Given the description of an element on the screen output the (x, y) to click on. 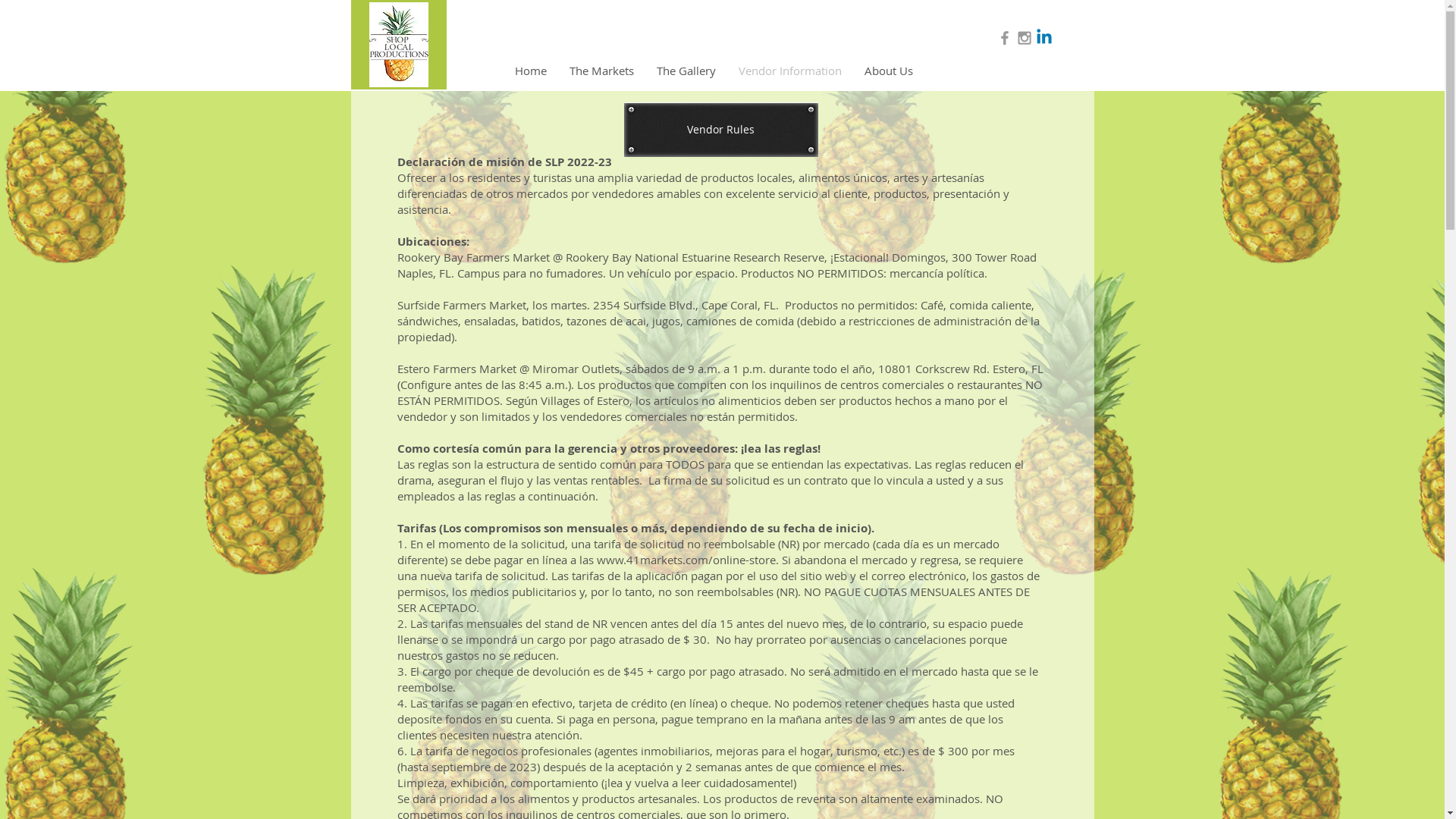
The Gallery Element type: text (685, 70)
Home Element type: text (530, 70)
www.41markets.com/online-store. Element type: text (687, 559)
Vendor Information Element type: text (789, 70)
About Us Element type: text (887, 70)
